Given the description of an element on the screen output the (x, y) to click on. 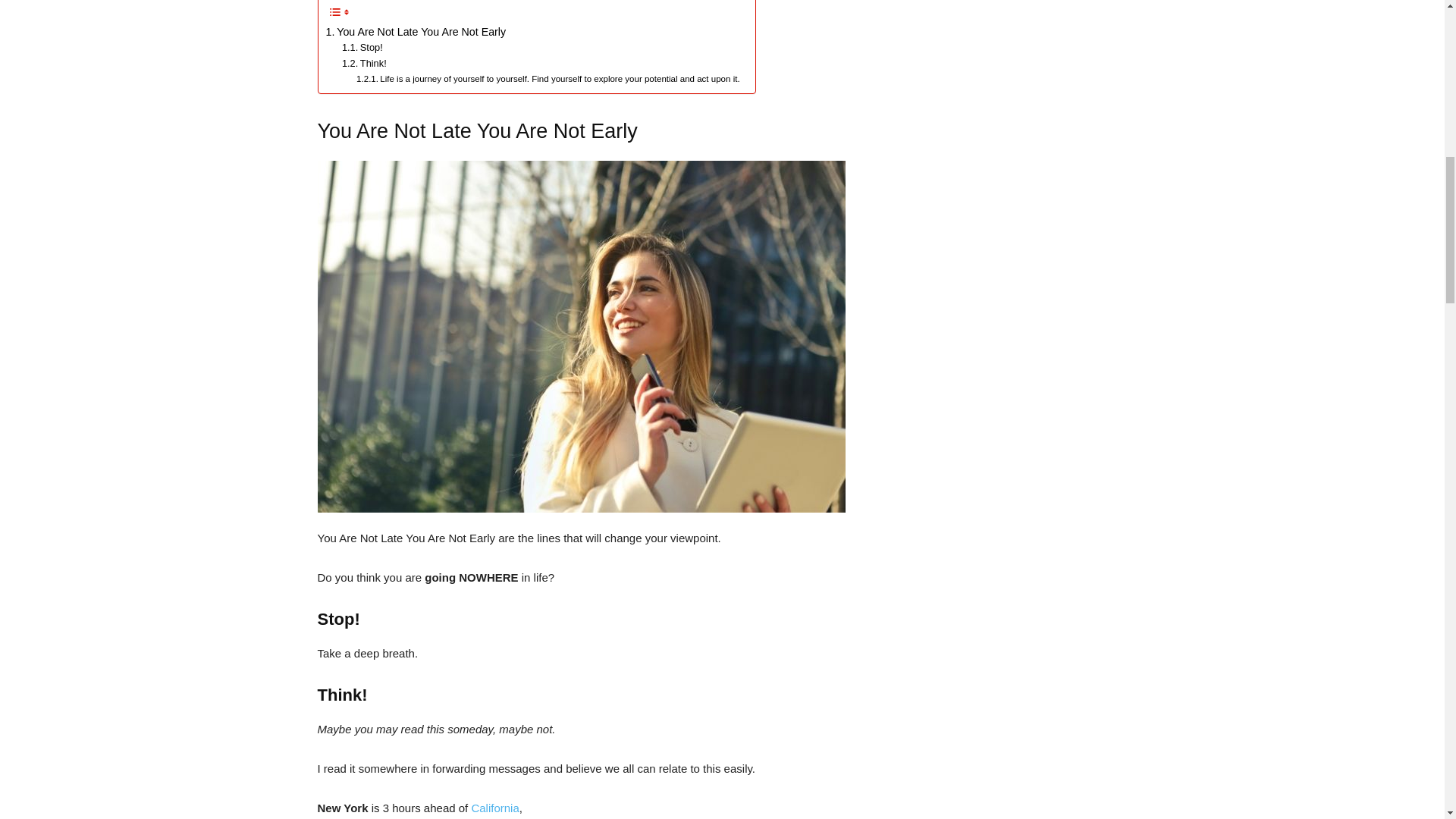
Think! (364, 64)
Stop! (362, 48)
You Are Not Late You Are Not Early (416, 31)
